Given the description of an element on the screen output the (x, y) to click on. 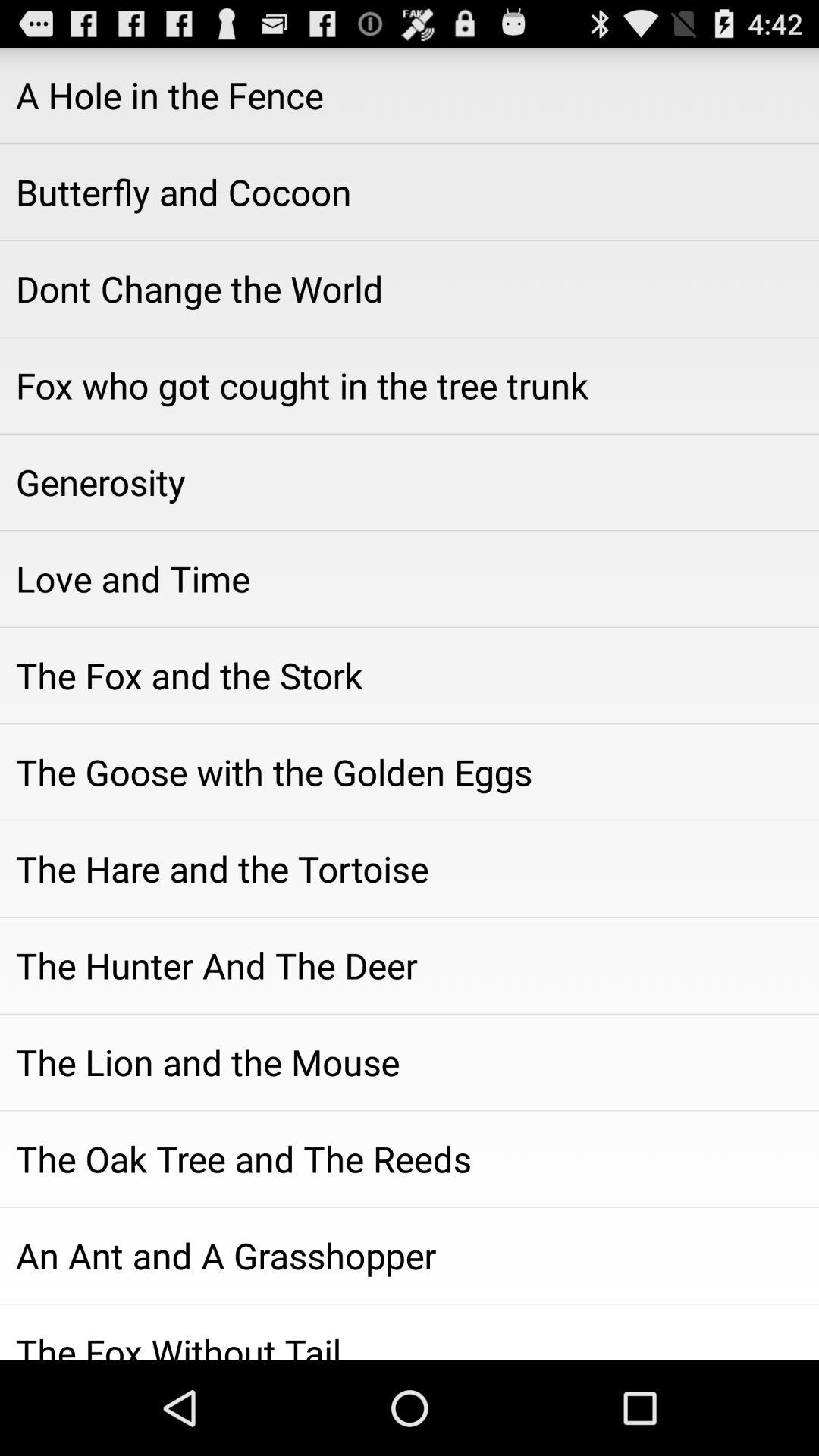
press app below the the oak tree item (409, 1255)
